Given the description of an element on the screen output the (x, y) to click on. 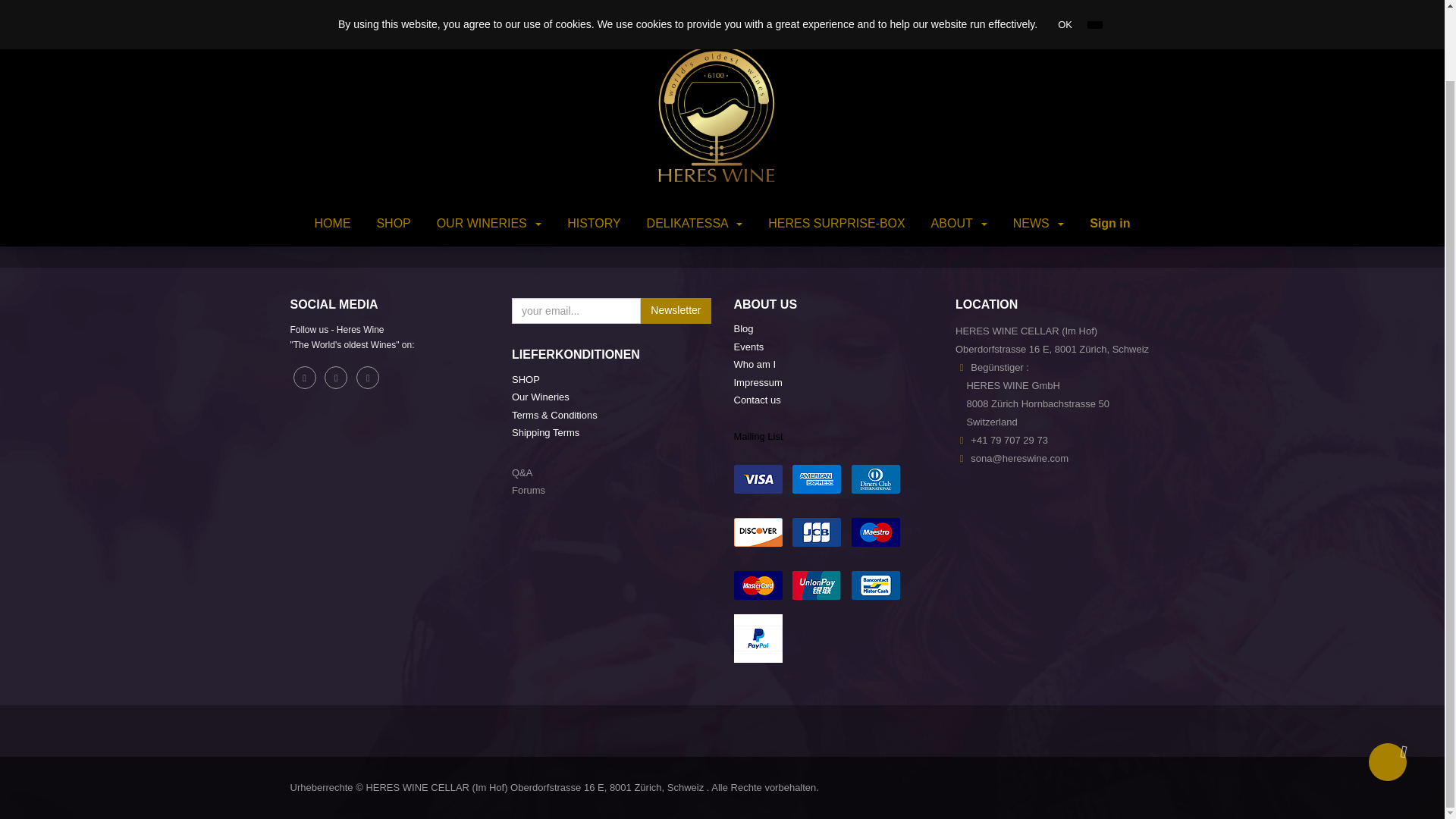
DELIKATESSA (694, 144)
HISTORY (593, 144)
HERES SURPRISE-BOX (836, 144)
HOME (332, 144)
SHOP (393, 144)
OUR WINERIES (489, 144)
ABOUT (959, 144)
